Given the description of an element on the screen output the (x, y) to click on. 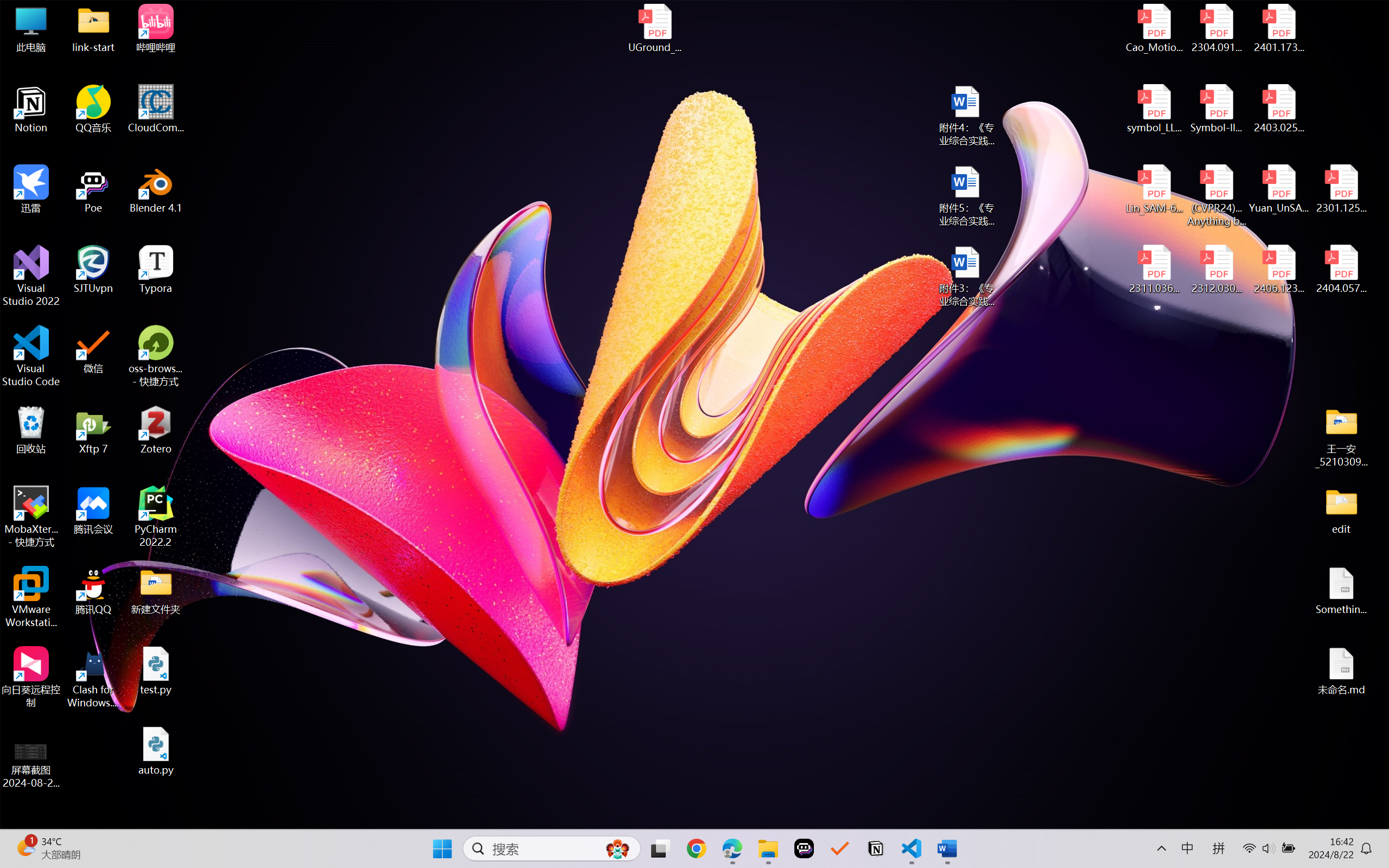
File Explorer - 1 running window (1299, 855)
